Given the description of an element on the screen output the (x, y) to click on. 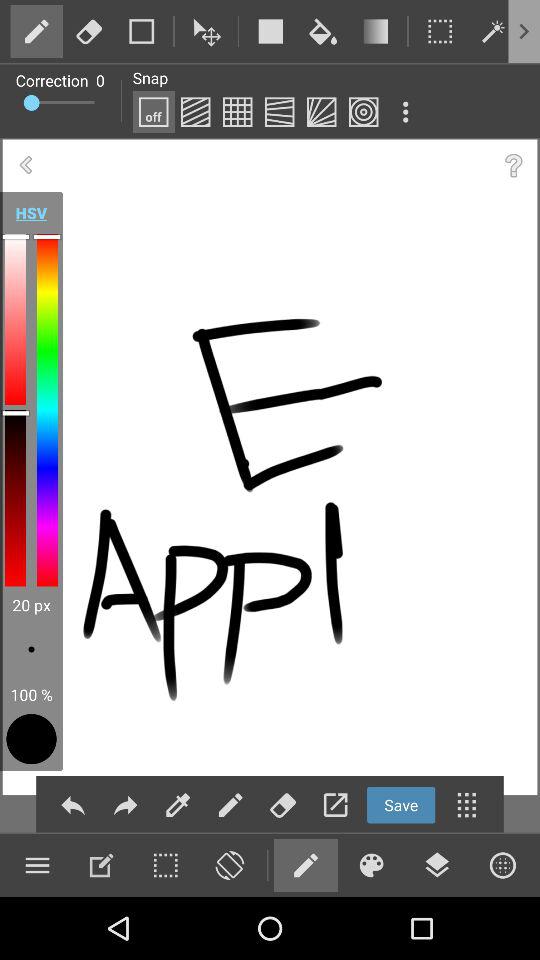
edit the painting works (195, 112)
